Given the description of an element on the screen output the (x, y) to click on. 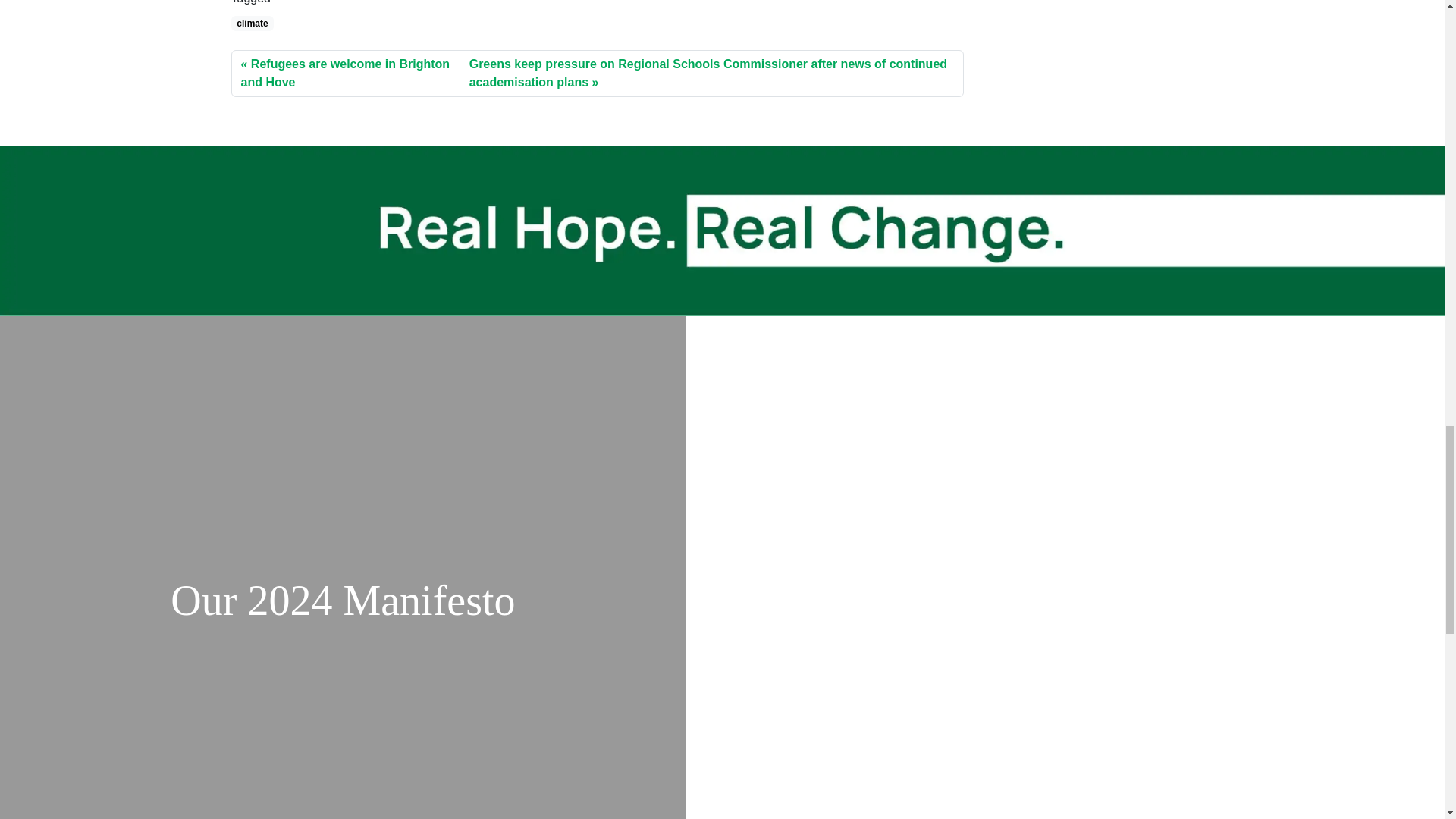
climate (251, 23)
Our 2024 Manifesto (342, 600)
Refugees are welcome in Brighton and Hove (345, 73)
